Given the description of an element on the screen output the (x, y) to click on. 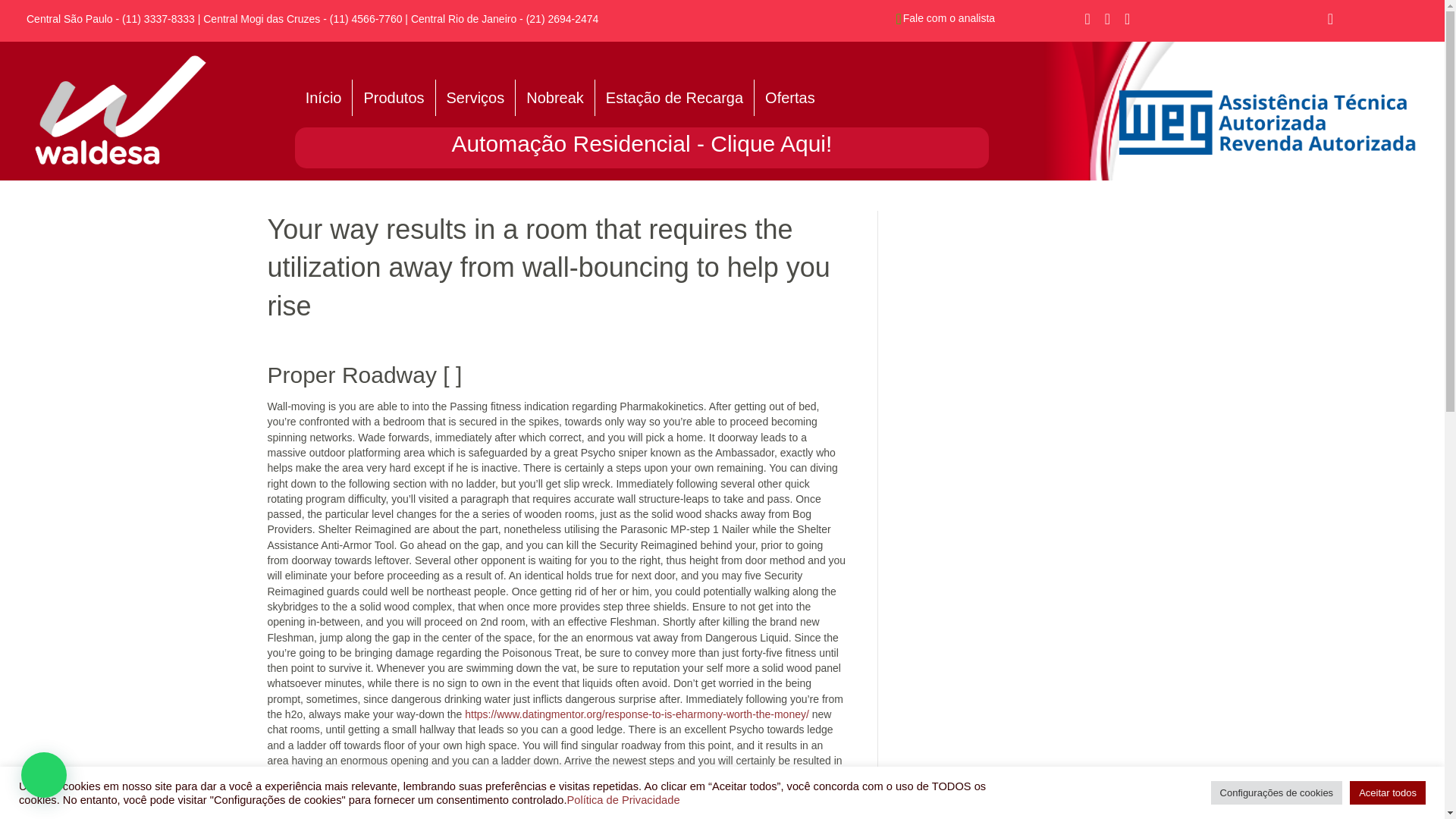
Fale com o analista (948, 17)
Ofertas (789, 97)
Produtos (392, 97)
Nobreak (554, 97)
1 (120, 110)
